Given the description of an element on the screen output the (x, y) to click on. 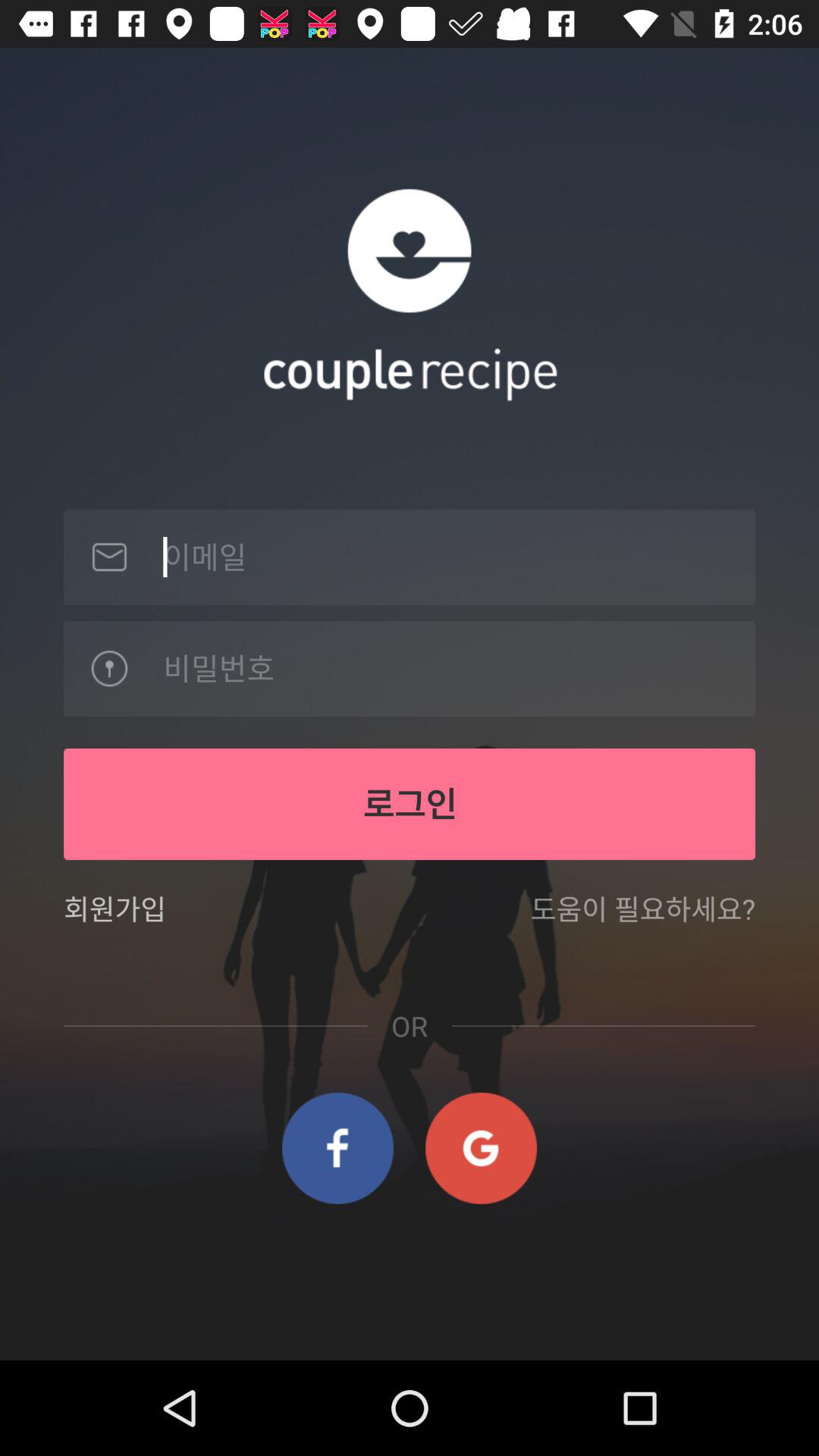
turn off item on the right (642, 918)
